Given the description of an element on the screen output the (x, y) to click on. 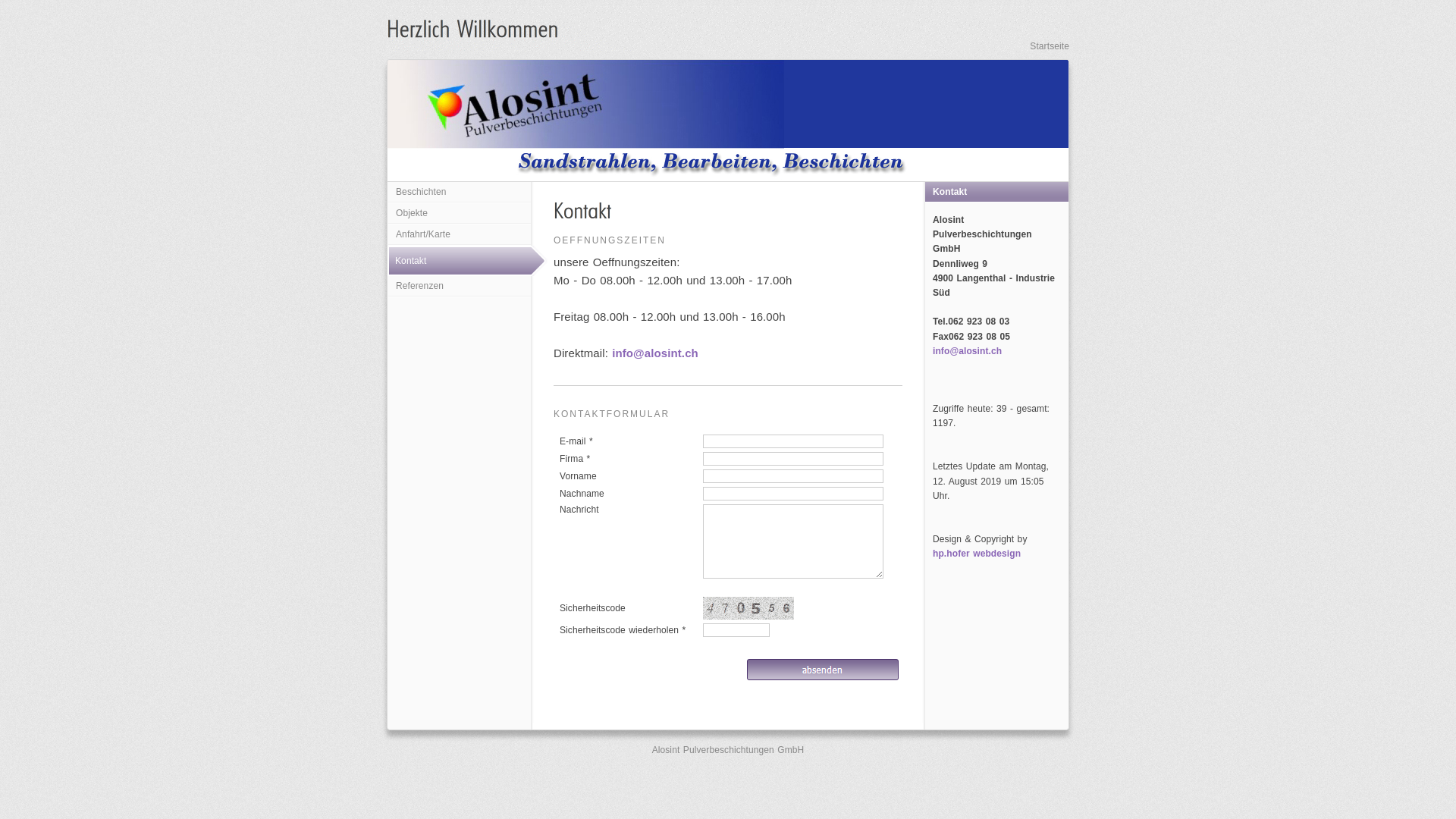
Kontakt Element type: text (469, 260)
info@alosint.ch Element type: text (966, 350)
Startseite Element type: text (1049, 45)
Anfahrt/Karte Element type: text (459, 234)
hp.hofer webdesign Element type: text (976, 553)
Objekte Element type: text (459, 213)
Referenzen Element type: text (459, 286)
Beschichten Element type: text (459, 192)
info@alosint.ch Element type: text (654, 352)
